Given the description of an element on the screen output the (x, y) to click on. 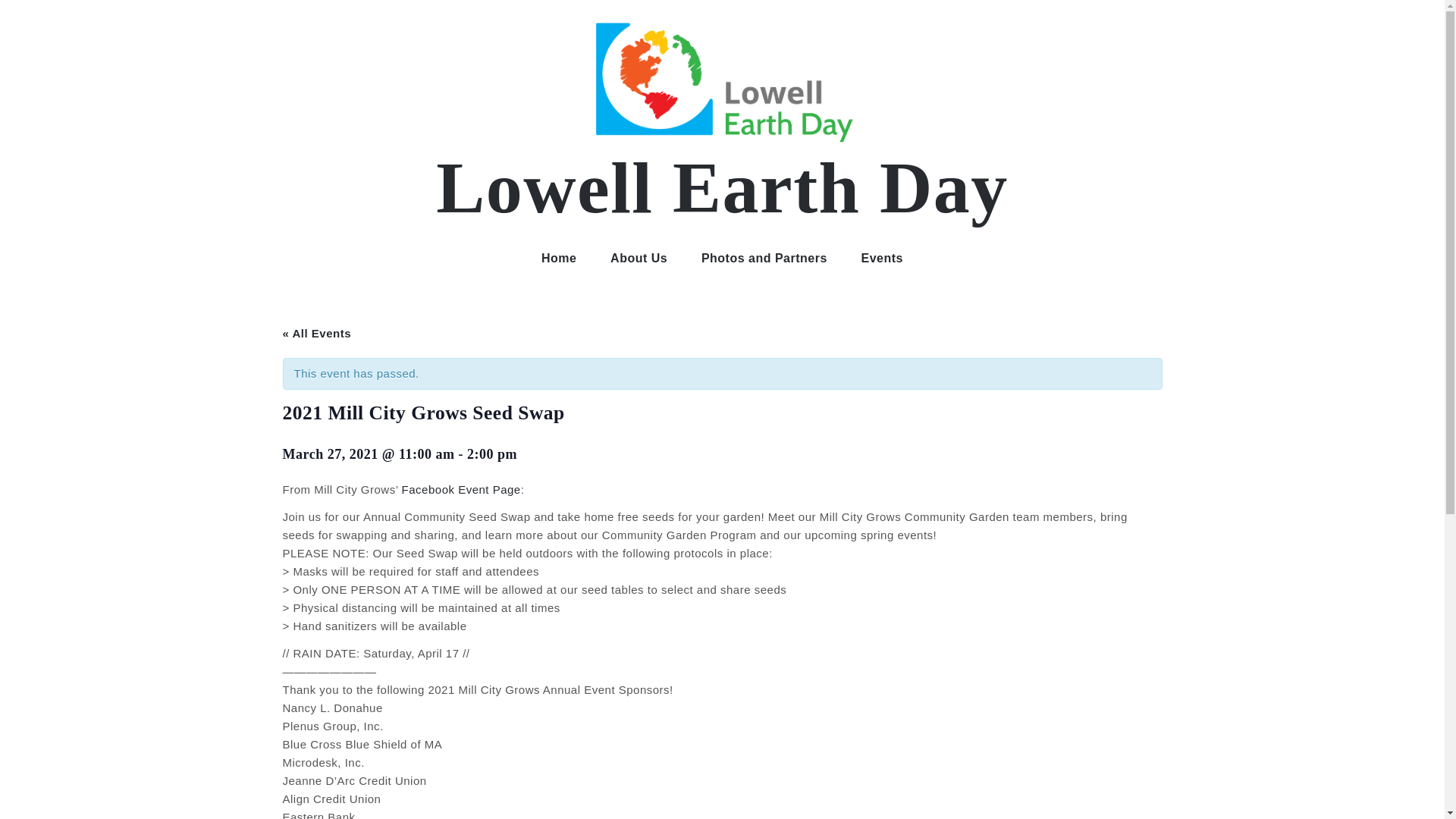
Photos and Partners (764, 258)
Lowell Earth Day (722, 187)
Facebook Event Page (461, 489)
Events (881, 258)
Home (558, 258)
About Us (638, 258)
